Given the description of an element on the screen output the (x, y) to click on. 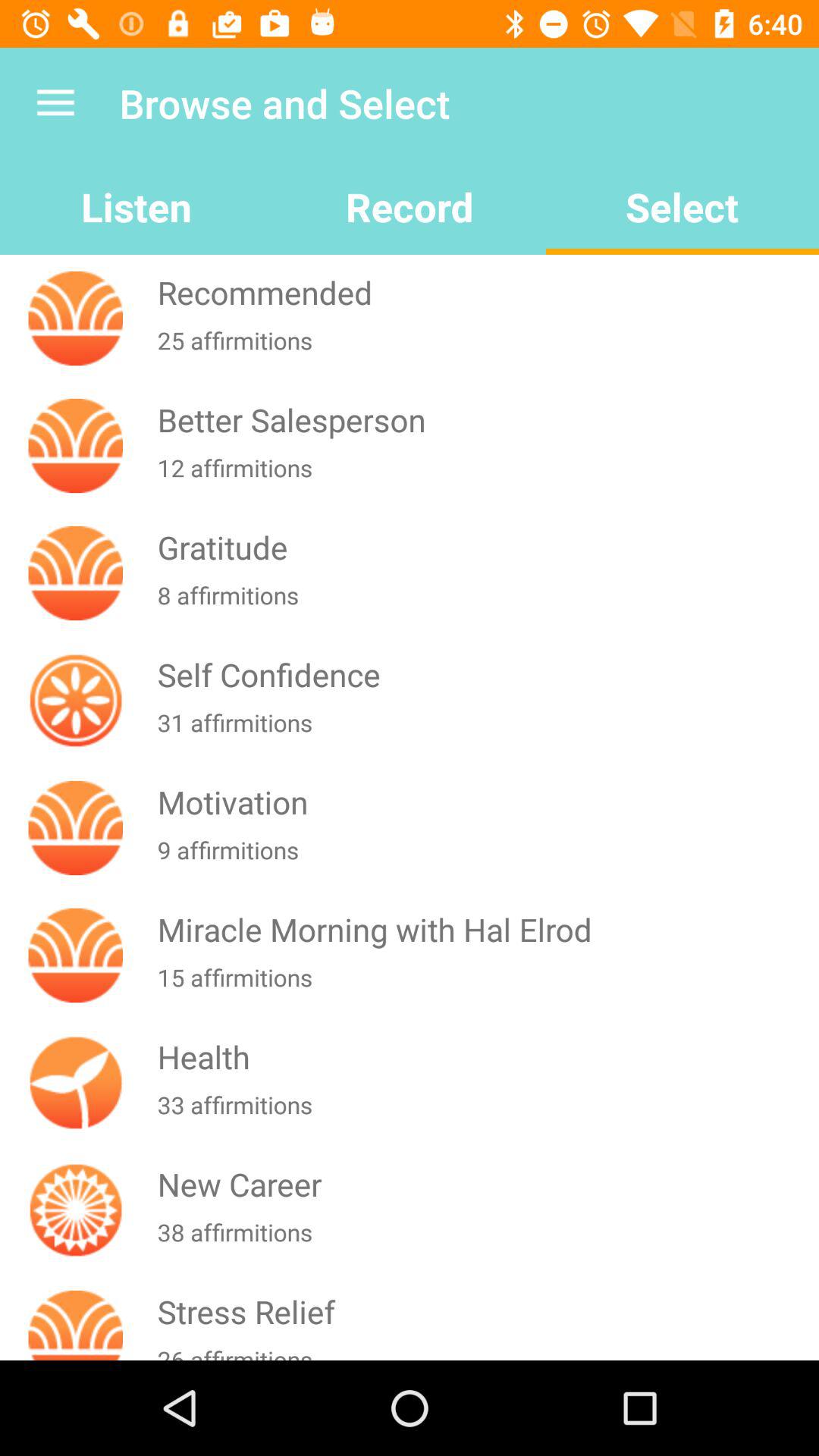
tap item above better salesperson item (484, 349)
